Given the description of an element on the screen output the (x, y) to click on. 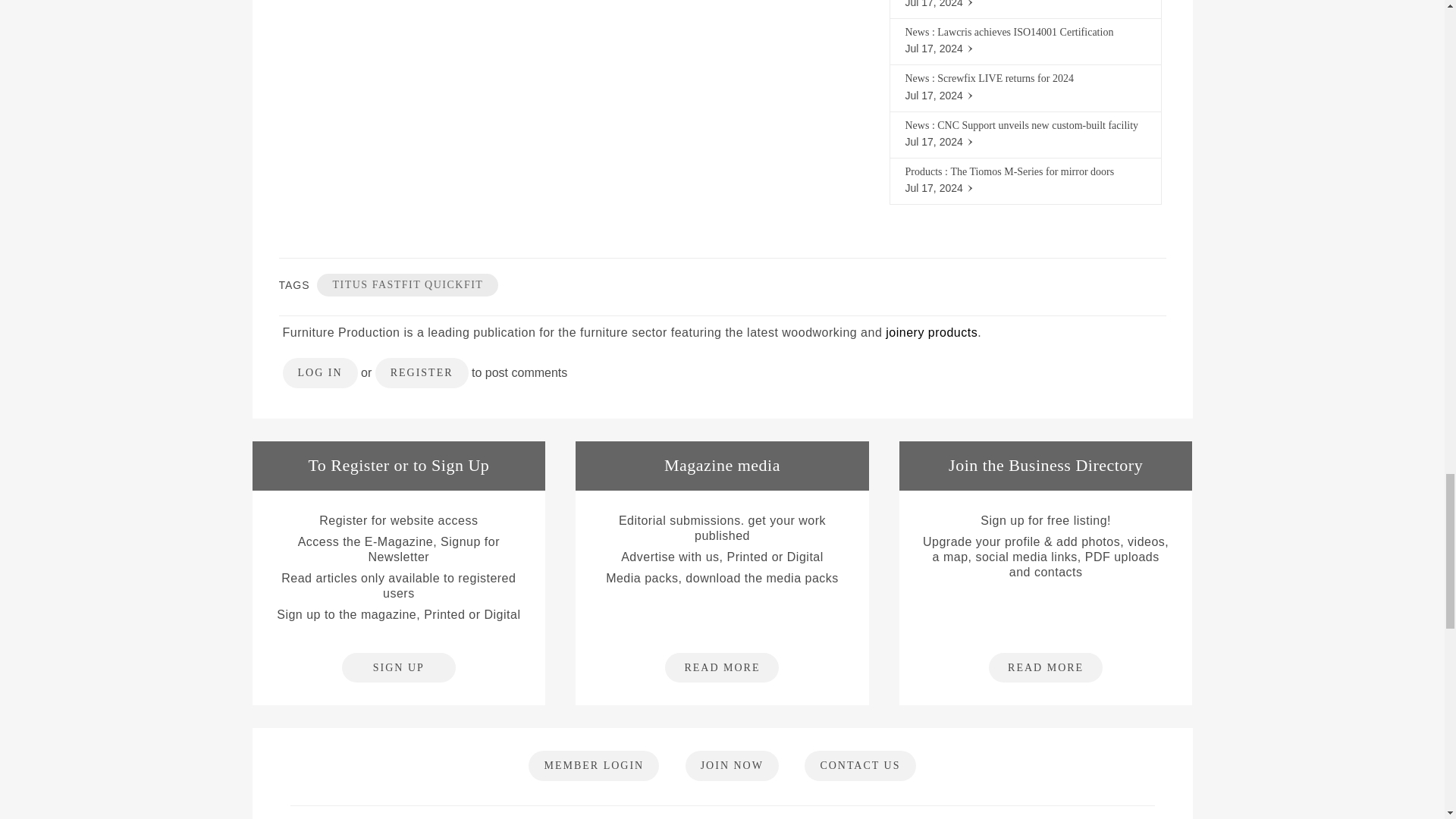
CNC Support unveils new custom-built facility  (1037, 125)
The Tiomos M-Series for mirror doors  (1031, 171)
Screwfix LIVE returns for 2024 (1005, 78)
Lawcris achieves ISO14001 Certification (1025, 31)
